Given the description of an element on the screen output the (x, y) to click on. 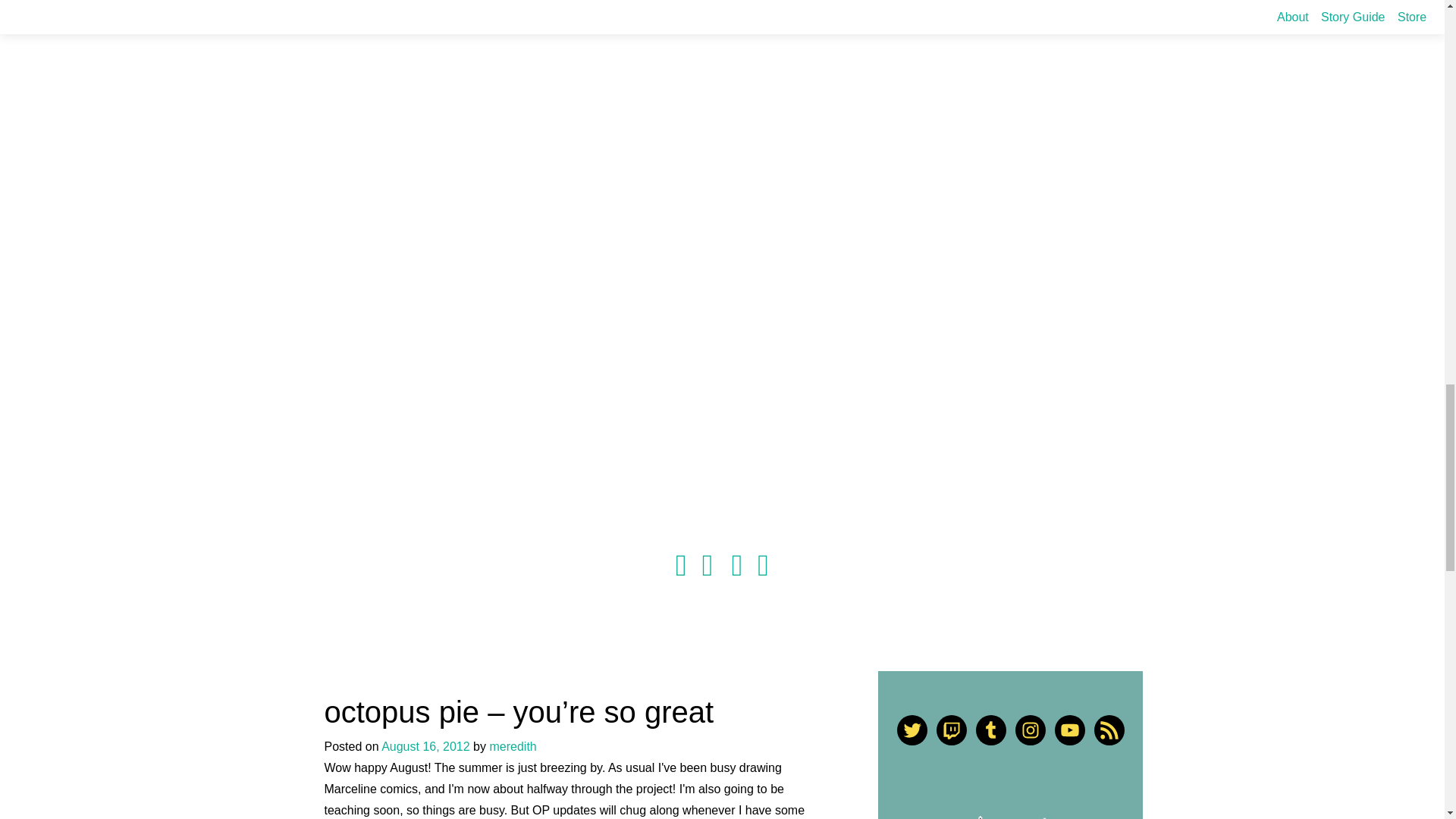
meredith (512, 746)
Twitter (911, 729)
August 16, 2012 (425, 746)
Twitch (951, 729)
